Given the description of an element on the screen output the (x, y) to click on. 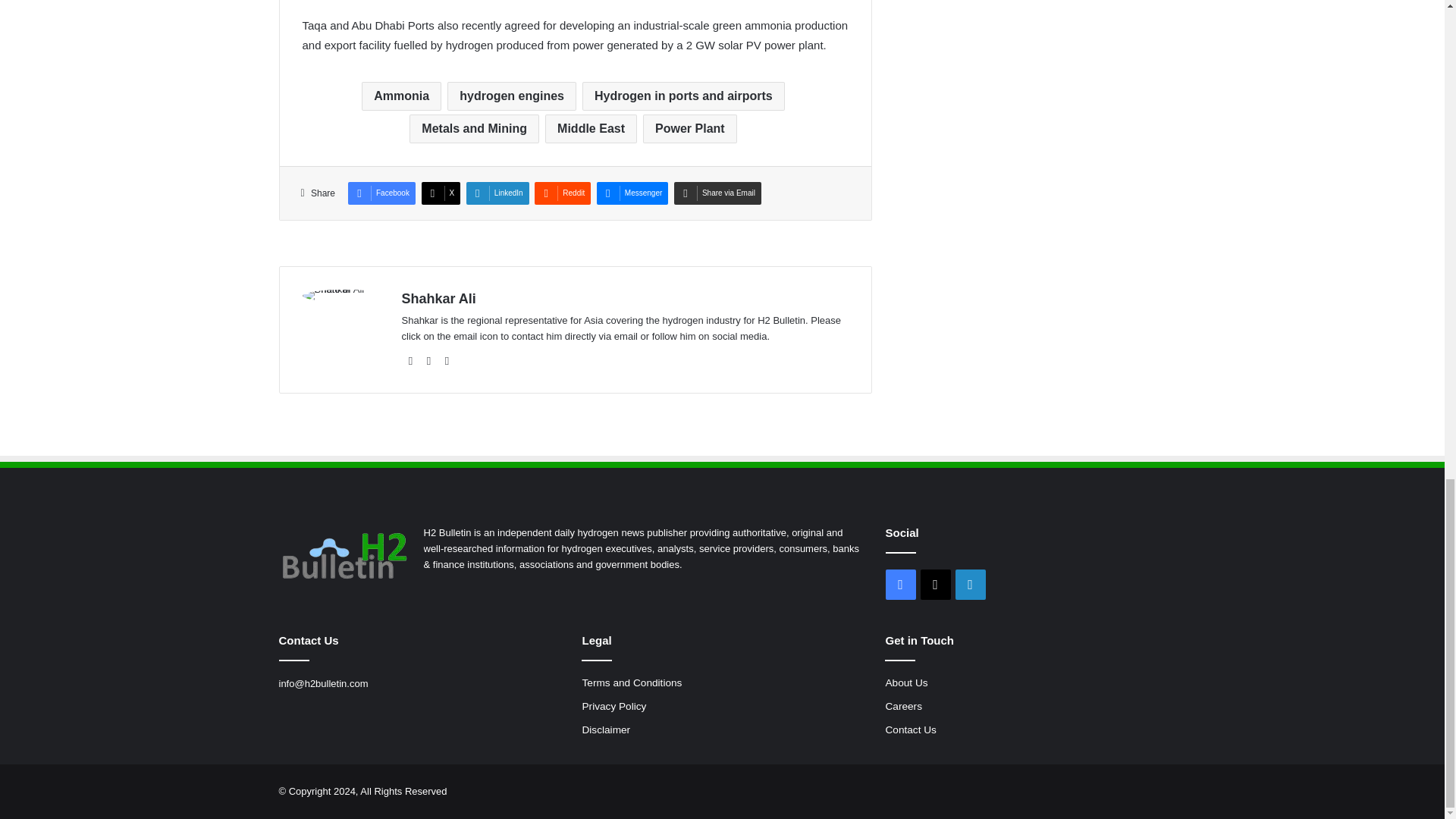
Power Plant (689, 128)
Website (410, 361)
Middle East (590, 128)
Share via Email (717, 192)
Ammonia (401, 95)
X (441, 192)
hydrogen engines (511, 95)
LinkedIn (497, 192)
Facebook (380, 192)
LinkedIn (497, 192)
